Given the description of an element on the screen output the (x, y) to click on. 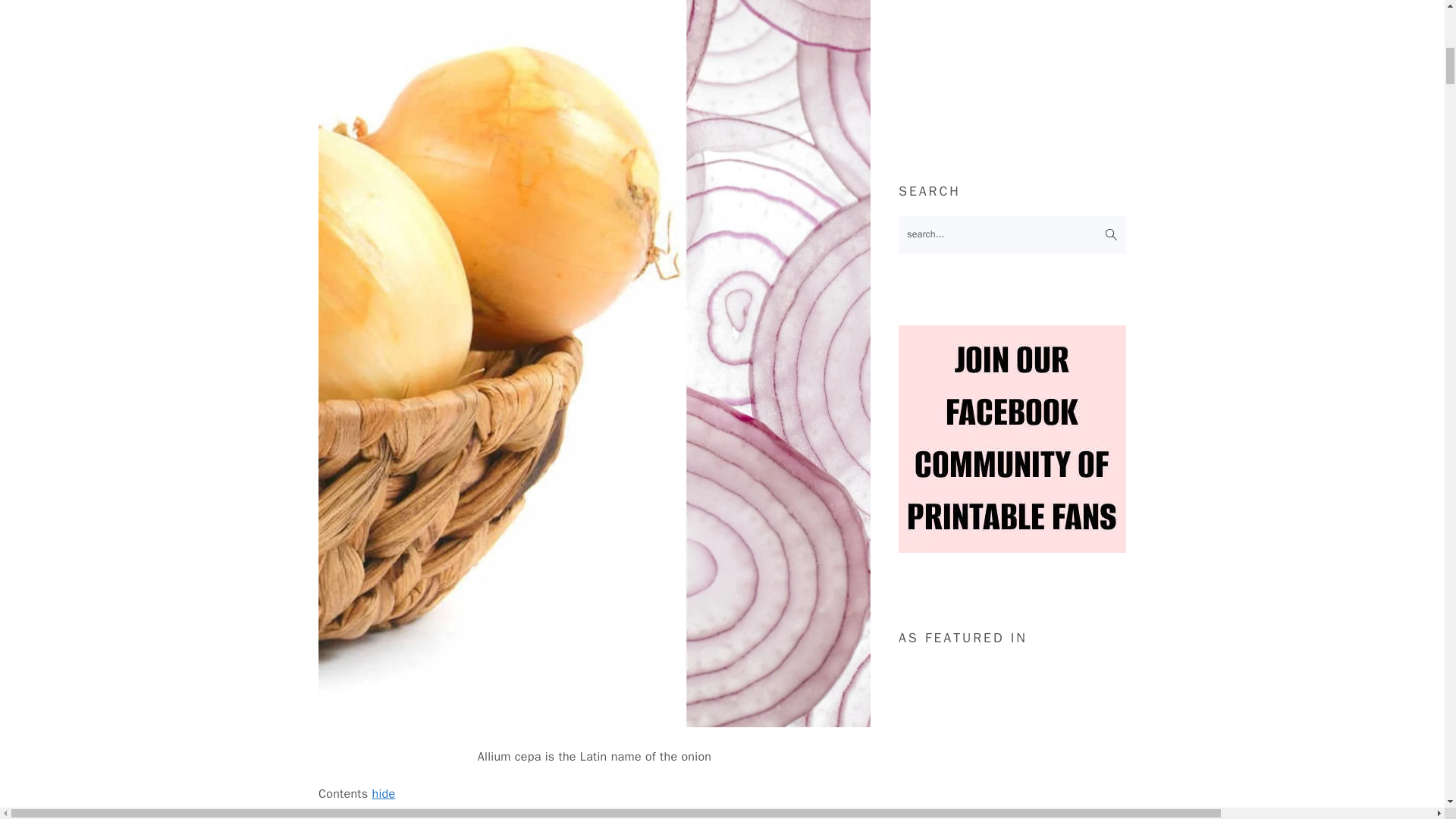
hide (382, 793)
